Given the description of an element on the screen output the (x, y) to click on. 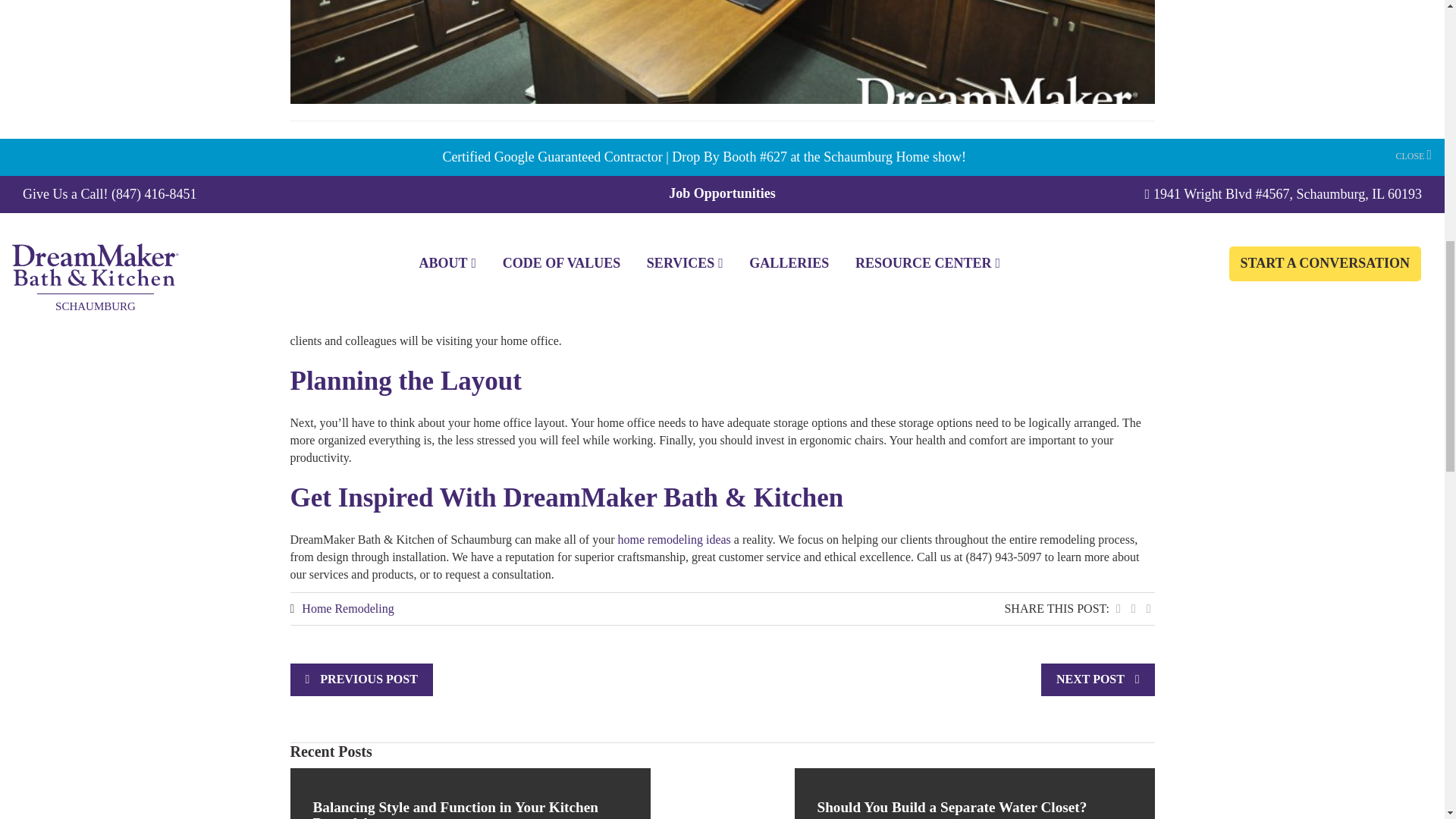
home remodeling contractor (841, 163)
PREVIOUS POST (368, 678)
home remodeling ideas (673, 539)
NEXT POST (1090, 678)
Home Remodeling (347, 608)
